Given the description of an element on the screen output the (x, y) to click on. 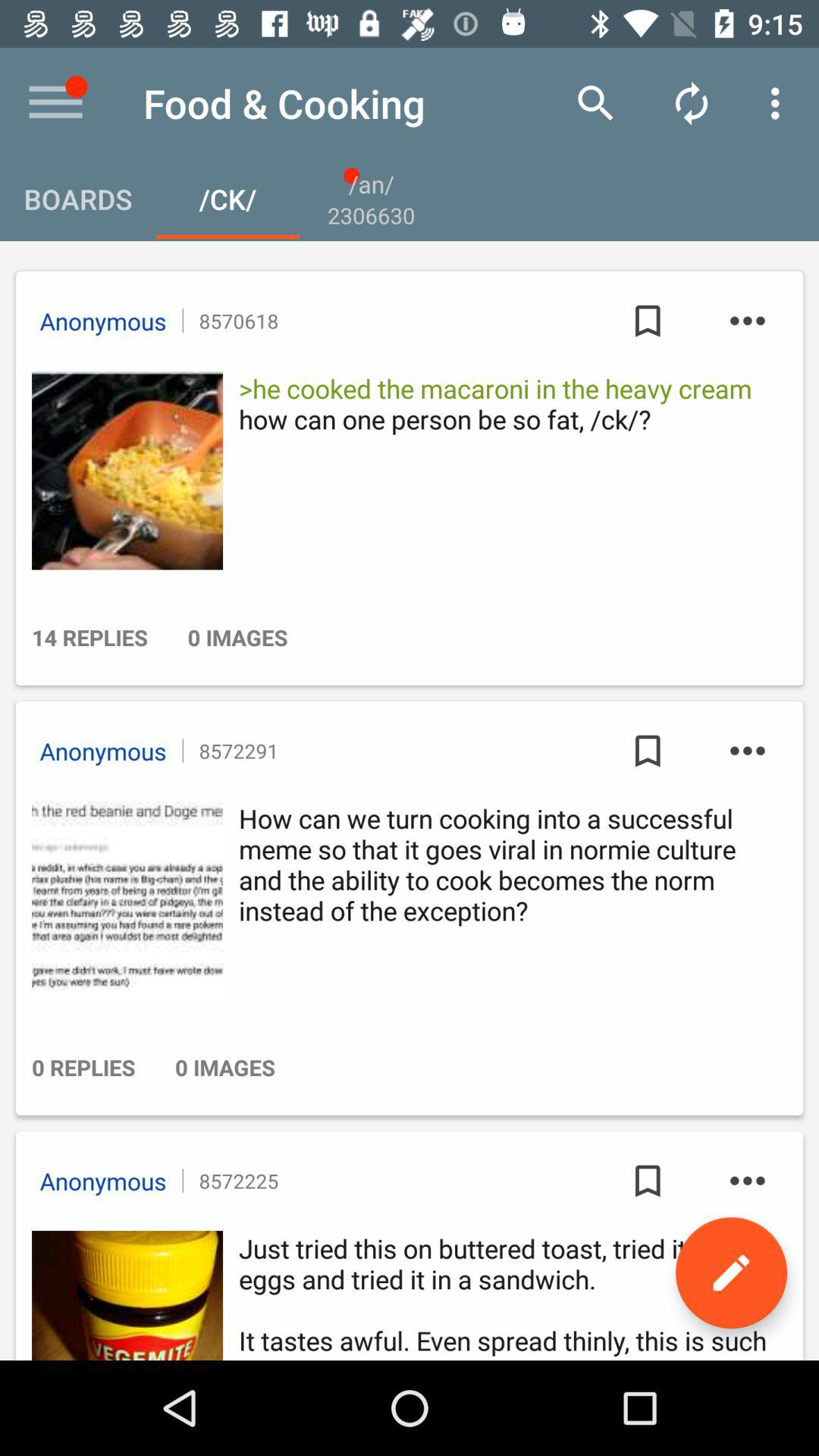
third option below food and cooking (371, 198)
